Given the description of an element on the screen output the (x, y) to click on. 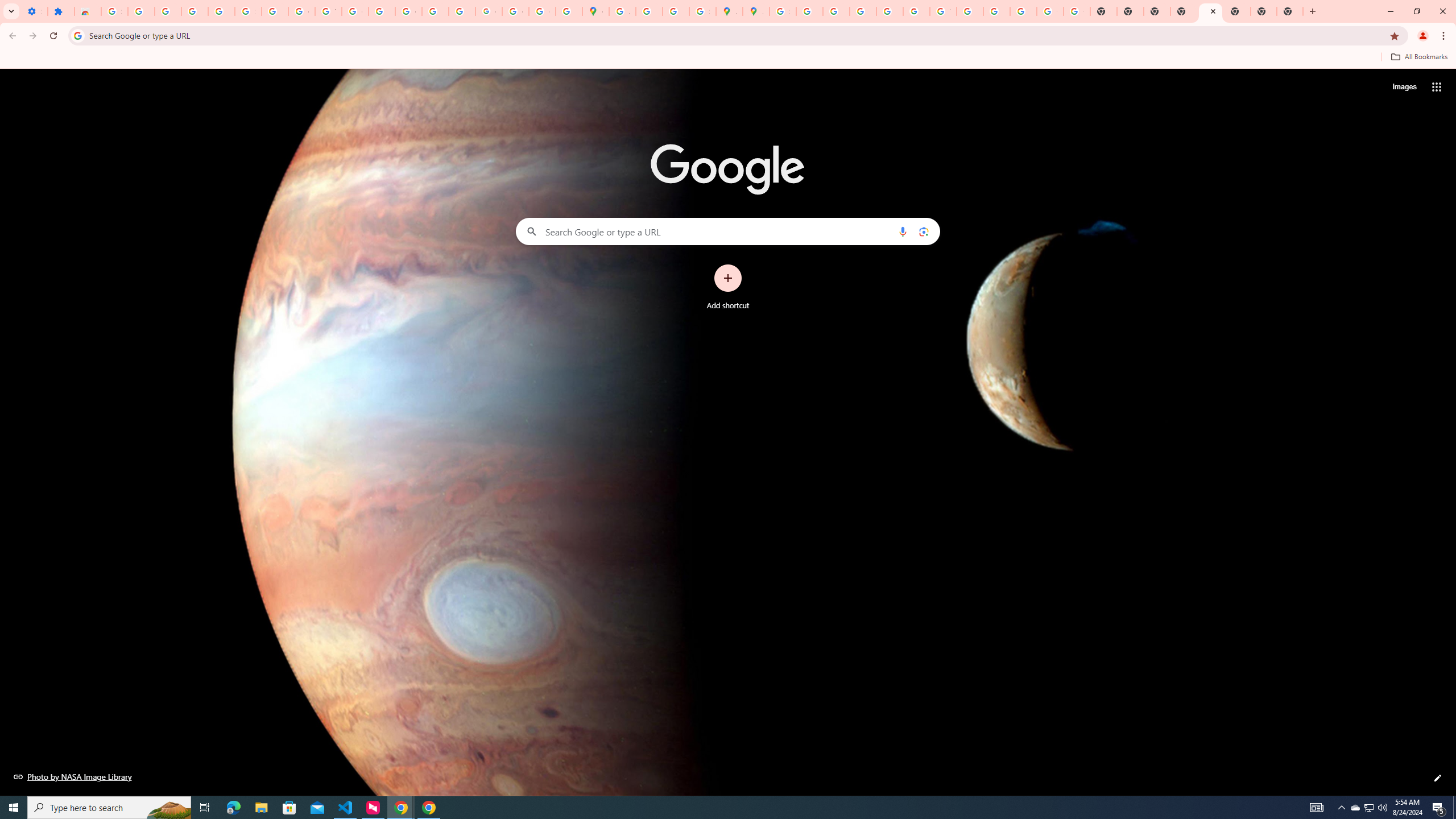
https://scholar.google.com/ (382, 11)
New Tab (1289, 11)
YouTube (328, 11)
Privacy Help Center - Policies Help (836, 11)
Customize this page (1437, 778)
